Given the description of an element on the screen output the (x, y) to click on. 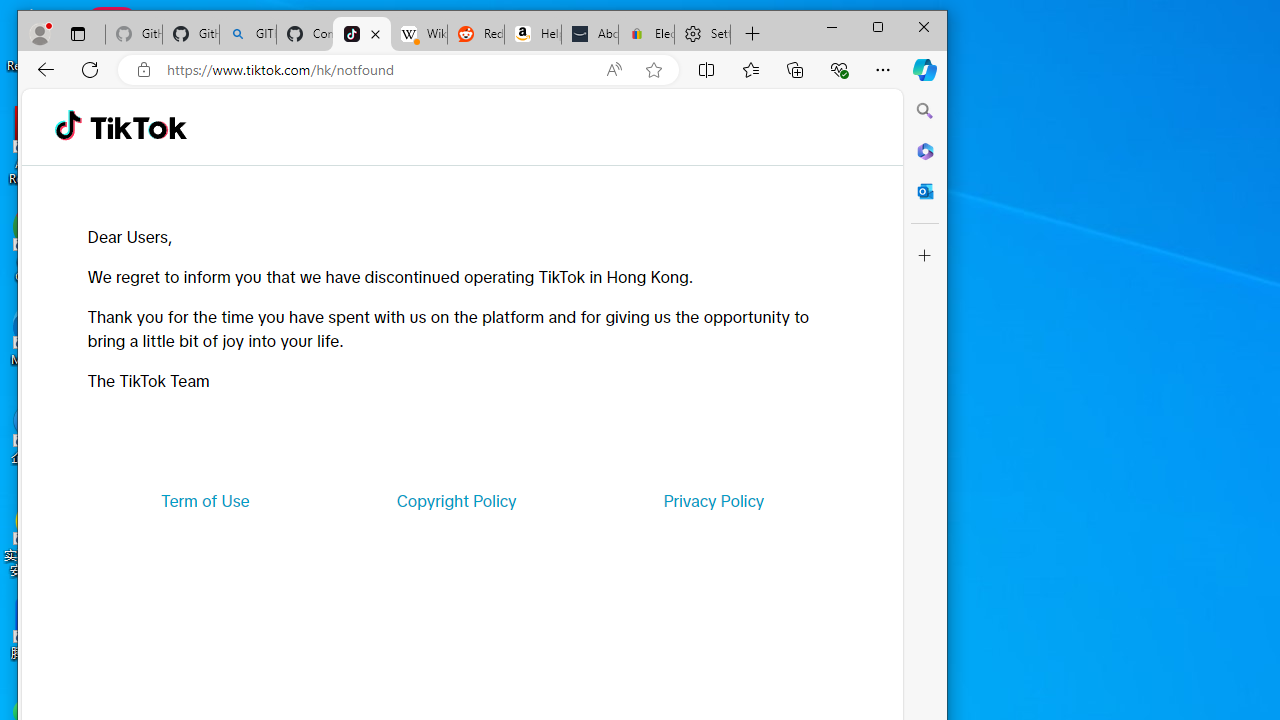
Privacy Policy (713, 500)
TikTok (362, 34)
Wikipedia, the free encyclopedia (418, 34)
Term of Use (205, 500)
TikTok (138, 126)
Help & Contact Us - Amazon Customer Service (532, 34)
